Given the description of an element on the screen output the (x, y) to click on. 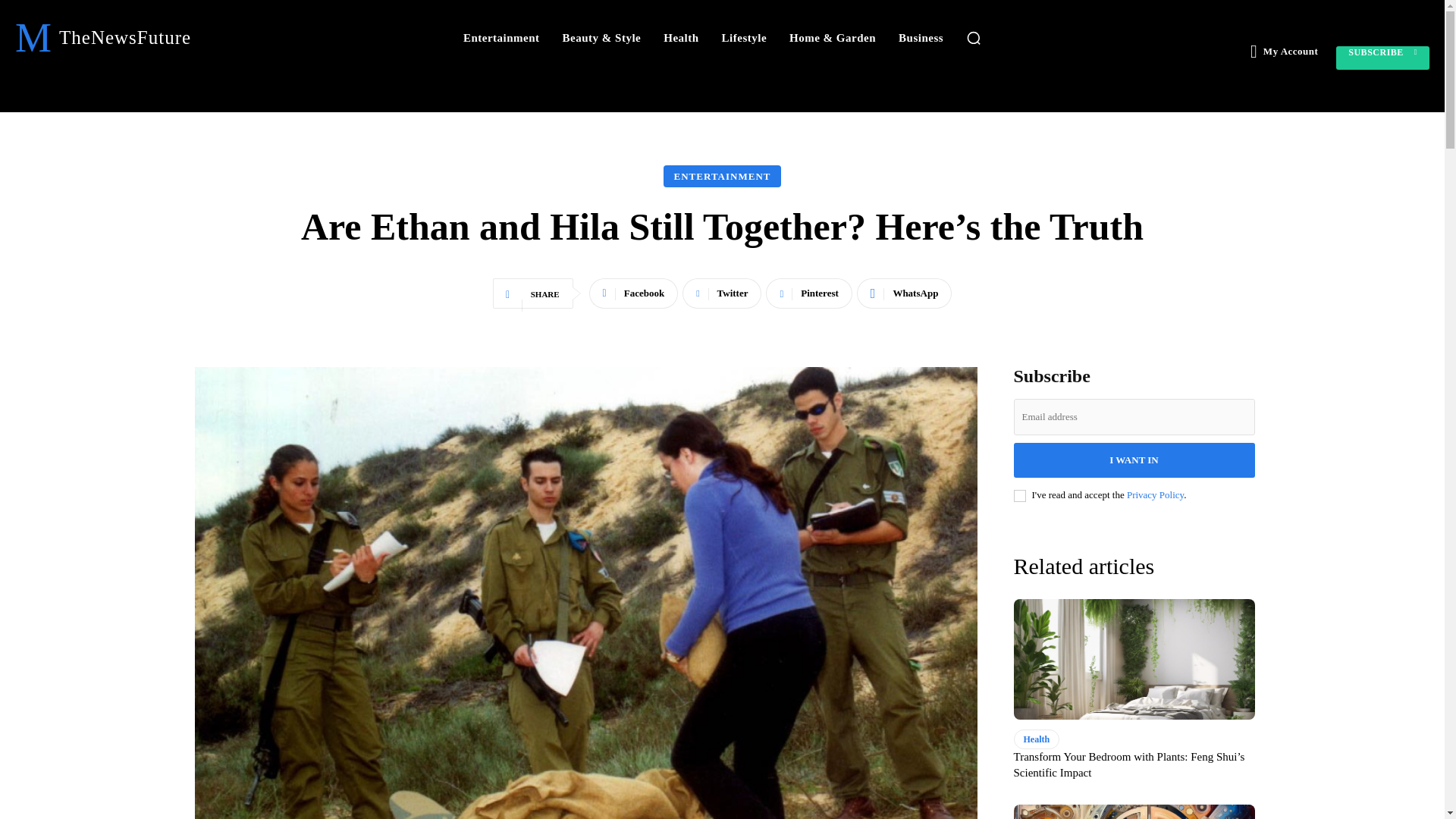
Pinterest (808, 293)
Twitter (721, 293)
Facebook (633, 293)
WhatsApp (904, 293)
